Given the description of an element on the screen output the (x, y) to click on. 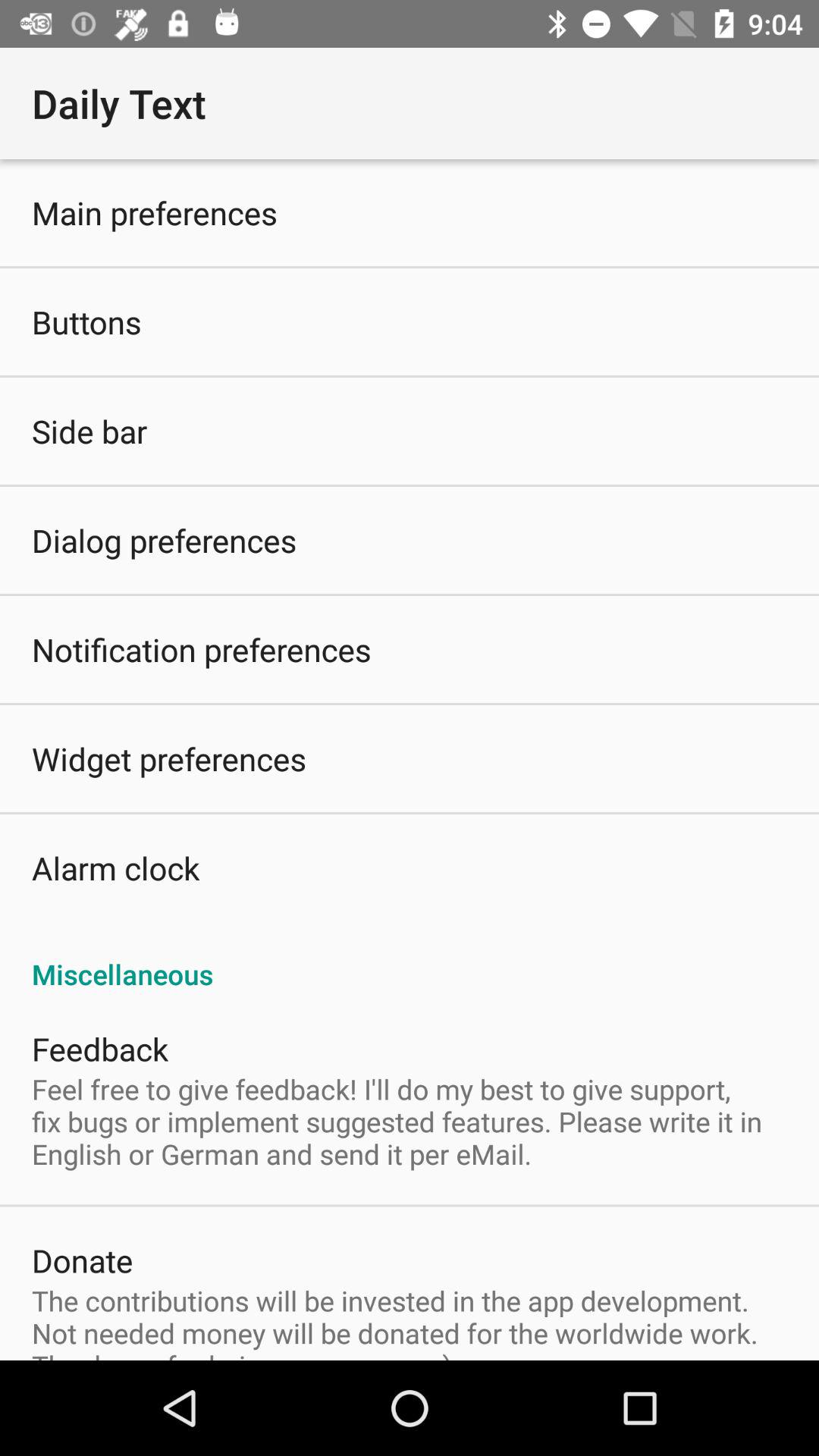
click the item above buttons (154, 212)
